Given the description of an element on the screen output the (x, y) to click on. 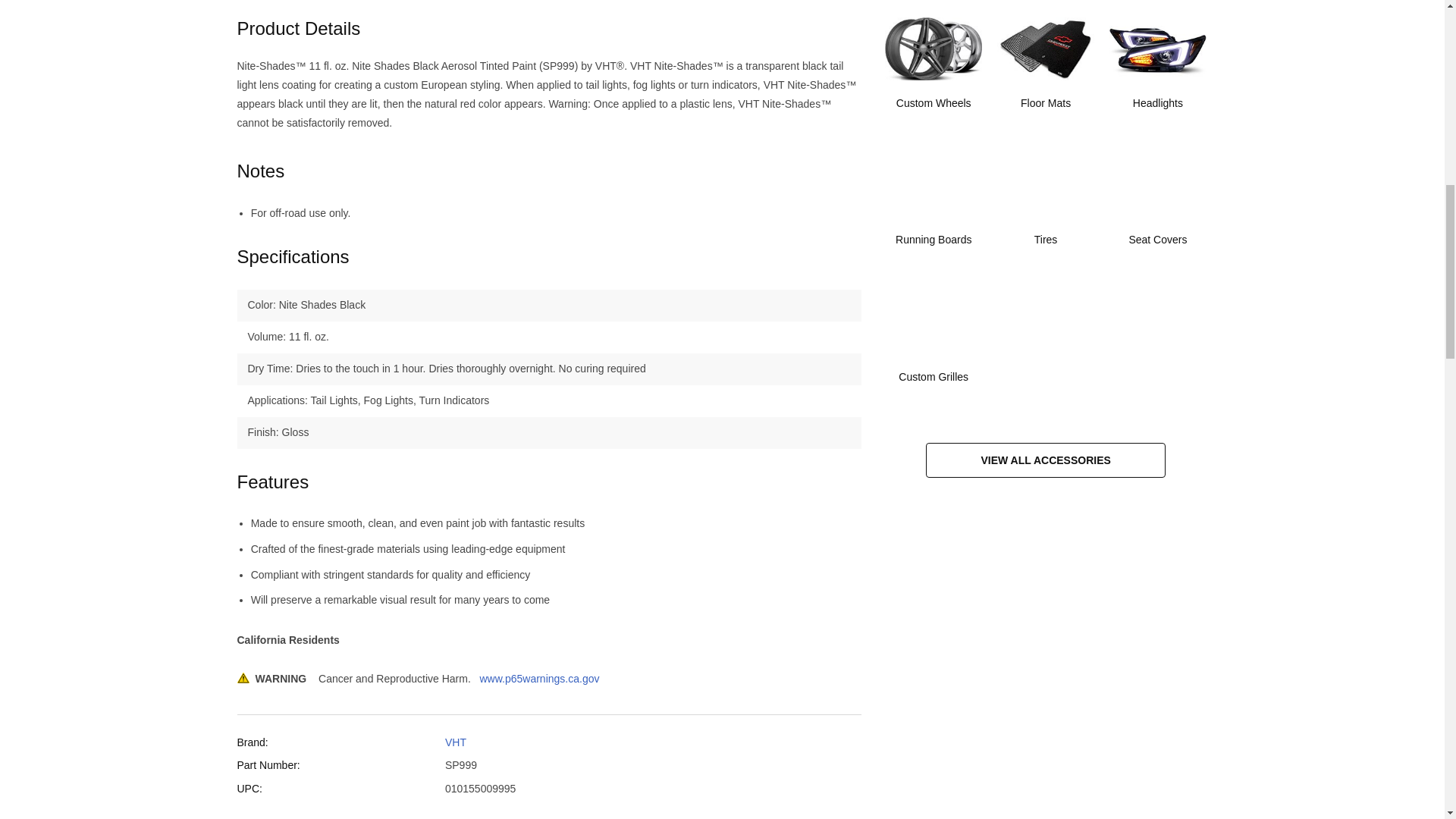
Headlights (1157, 72)
Floor Mats (1045, 72)
Custom Wheels (933, 72)
VHT (455, 742)
